Given the description of an element on the screen output the (x, y) to click on. 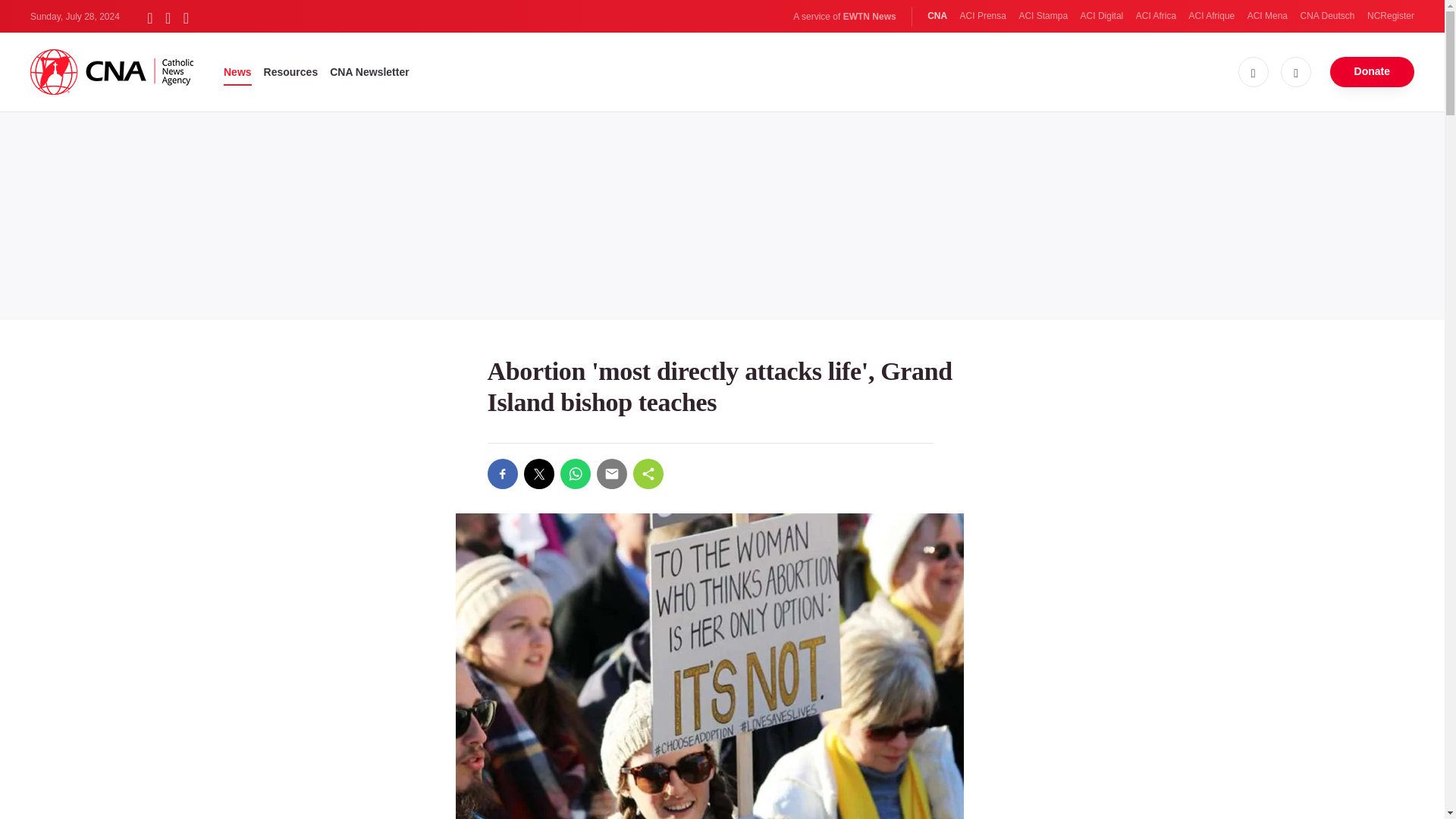
ACI Digital (1102, 16)
ACI Prensa (982, 16)
Resources (290, 71)
News (237, 71)
ACI Mena (1267, 16)
CNA (937, 16)
NCRegister (1390, 16)
EWTN News (869, 16)
ACI Stampa (1042, 16)
ACI Africa (1155, 16)
ACI Afrique (1211, 16)
EWTN News (869, 16)
CNA Deutsch (1327, 16)
